Given the description of an element on the screen output the (x, y) to click on. 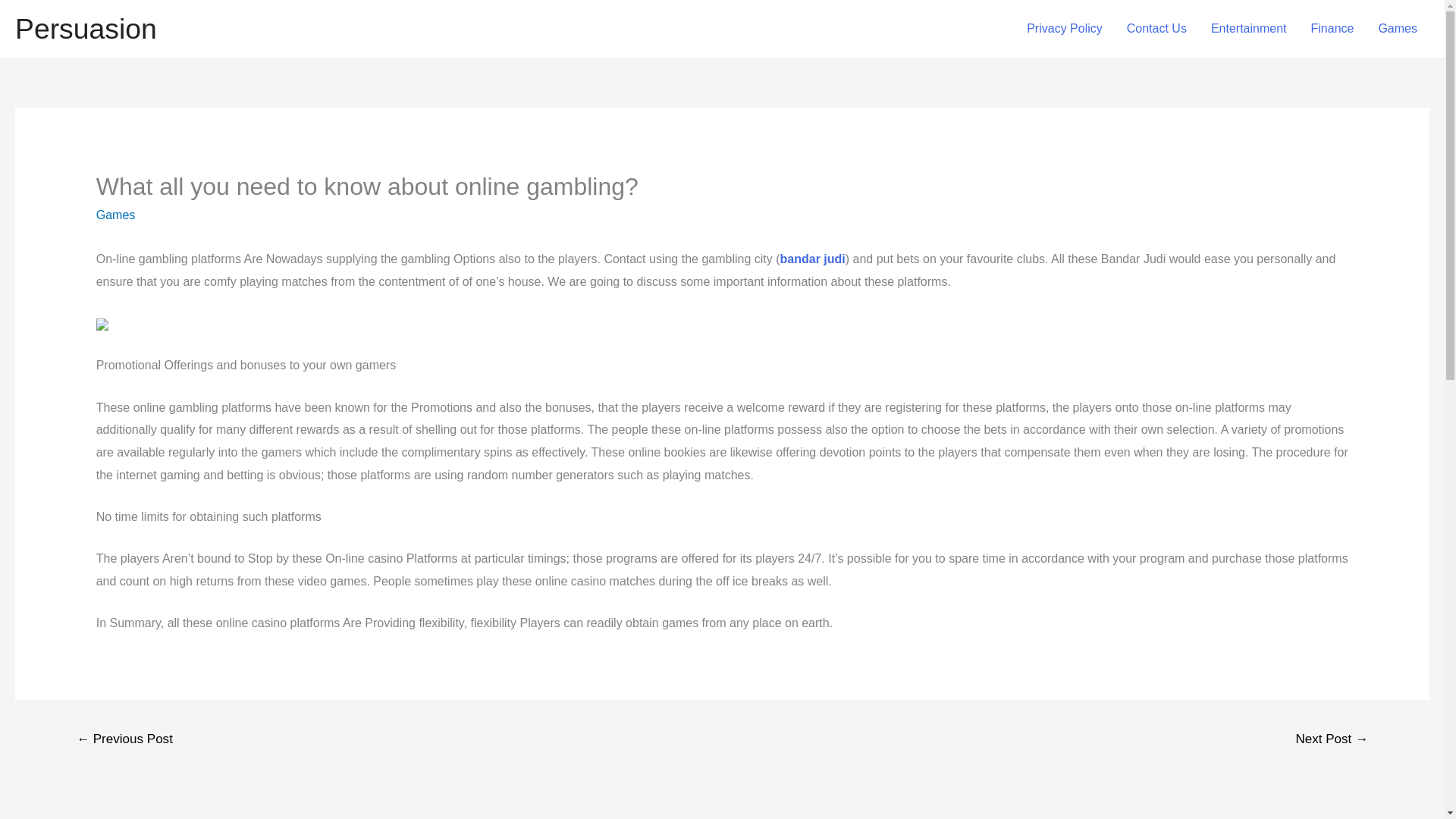
bandar judi (812, 258)
Contact Us (1156, 28)
Games (1397, 28)
Entertainment (1248, 28)
Finance (1331, 28)
Games (115, 214)
Privacy Policy (1064, 28)
Persuasion (85, 29)
